Given the description of an element on the screen output the (x, y) to click on. 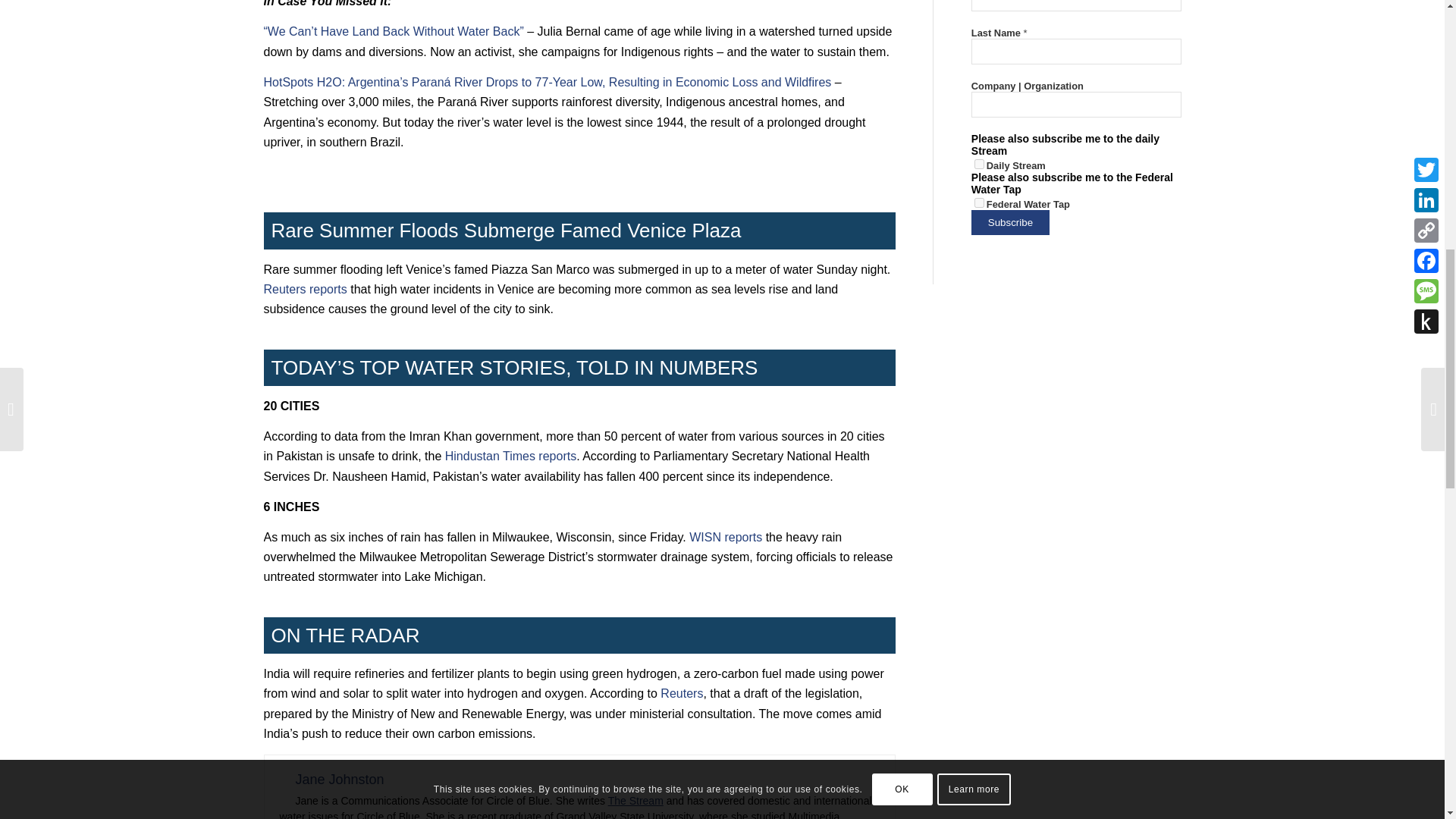
1024 (979, 203)
Subscribe (1010, 222)
512 (979, 163)
